Given the description of an element on the screen output the (x, y) to click on. 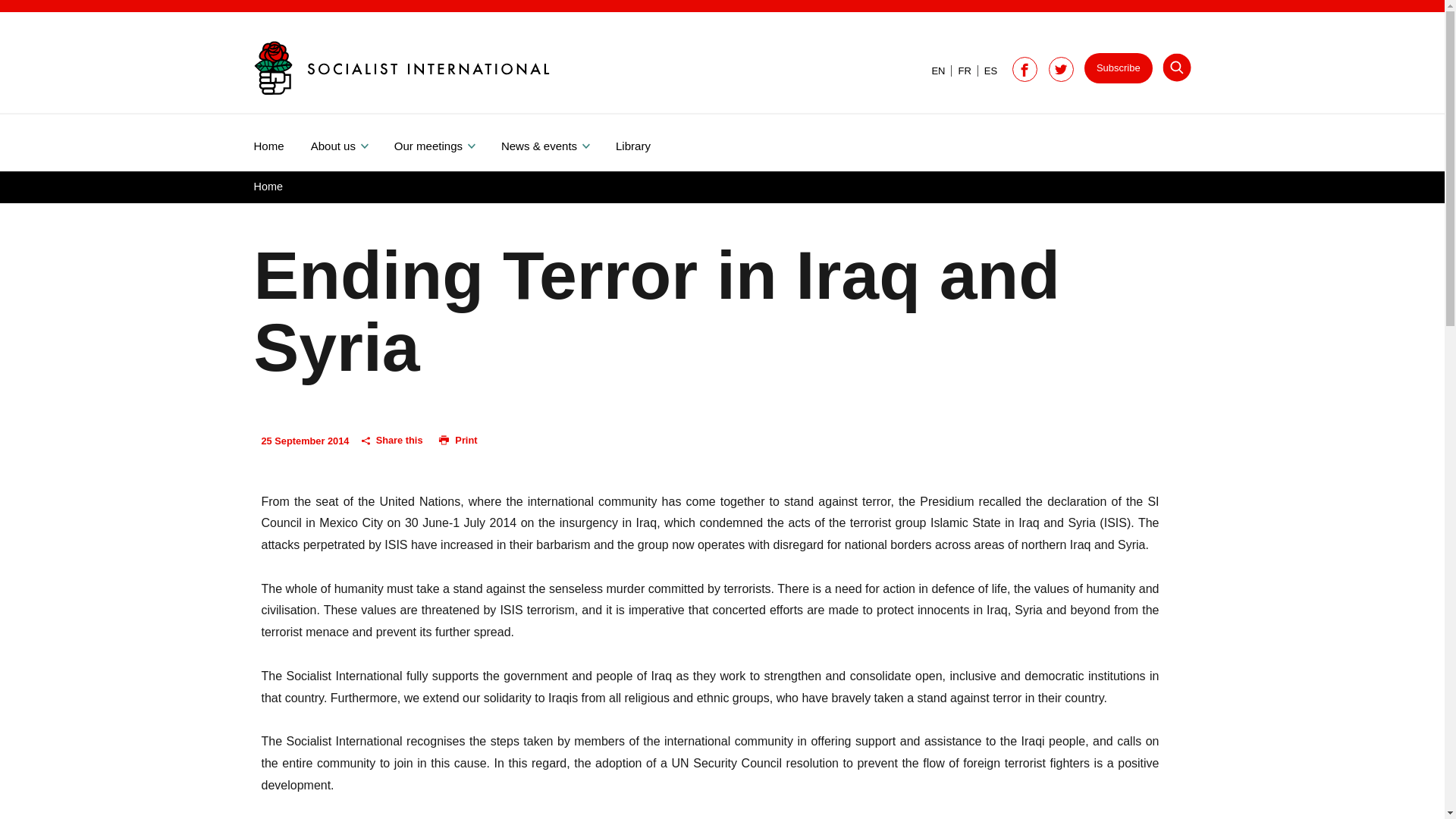
Subscribe (1118, 67)
Home (281, 142)
Library (646, 142)
Home (267, 186)
About us (352, 142)
Socialist International on Facebook (1024, 69)
Follow Socialist International on Twitter (1061, 69)
Our meetings (447, 142)
